Given the description of an element on the screen output the (x, y) to click on. 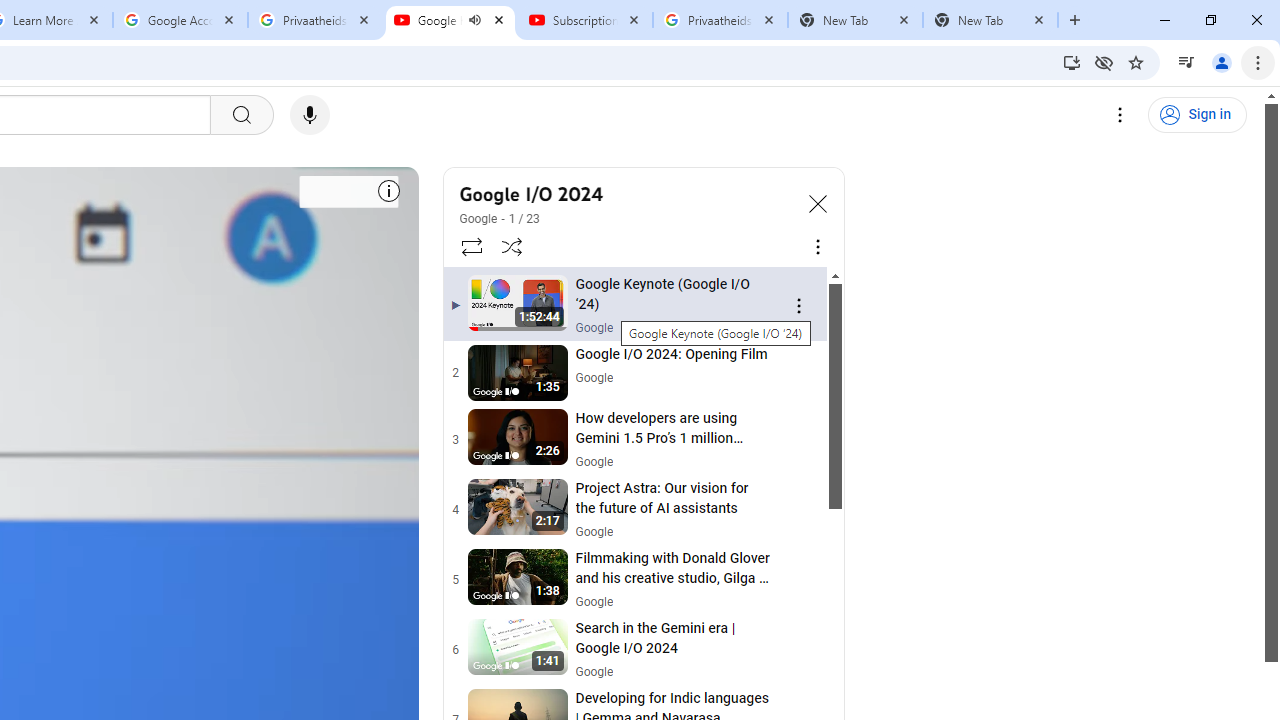
Subscriptions - YouTube (585, 20)
Collapse (817, 202)
Show cards (388, 187)
